Given the description of an element on the screen output the (x, y) to click on. 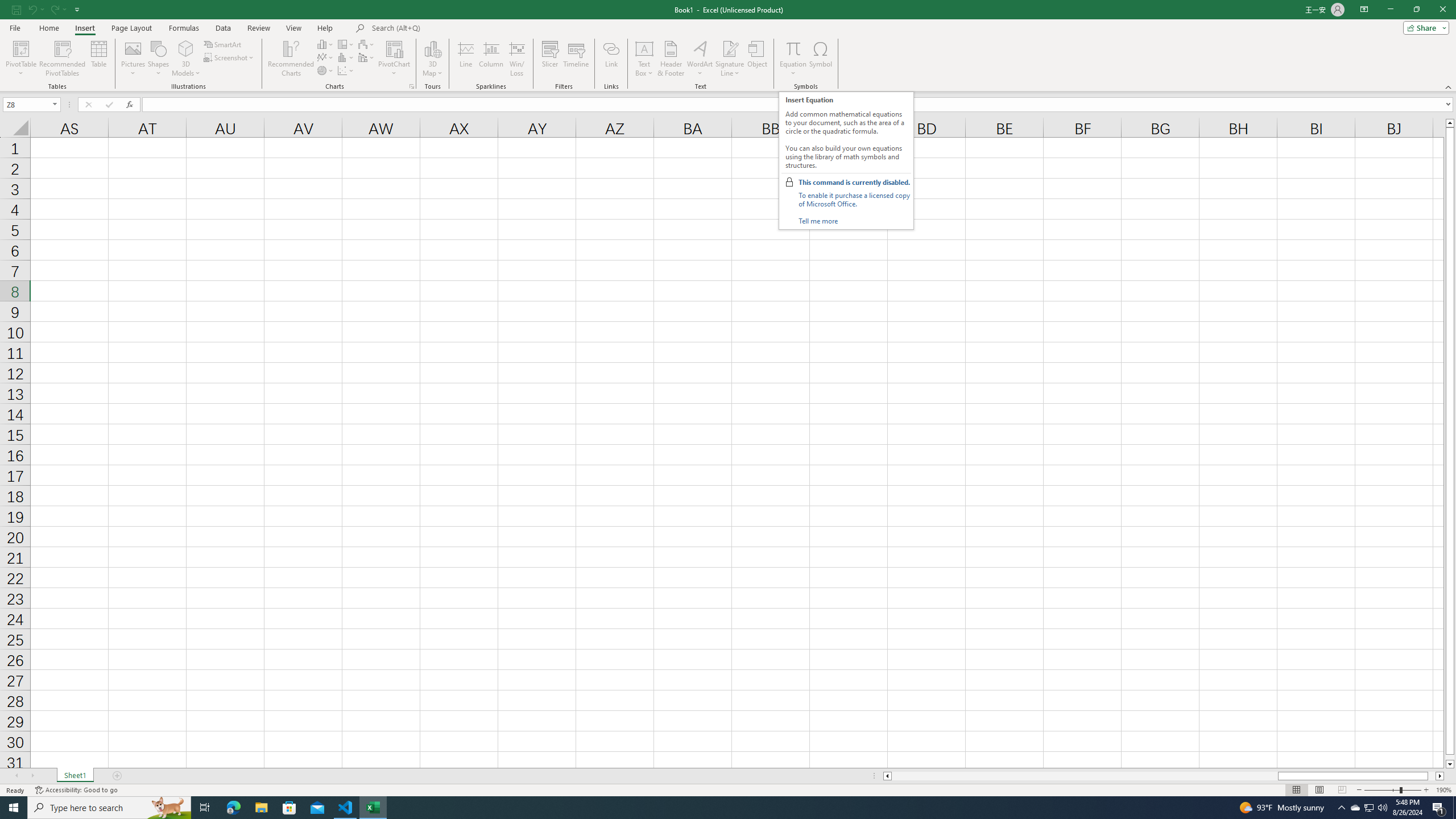
Signature Line (729, 48)
Text Box (643, 58)
Timeline (575, 58)
